Given the description of an element on the screen output the (x, y) to click on. 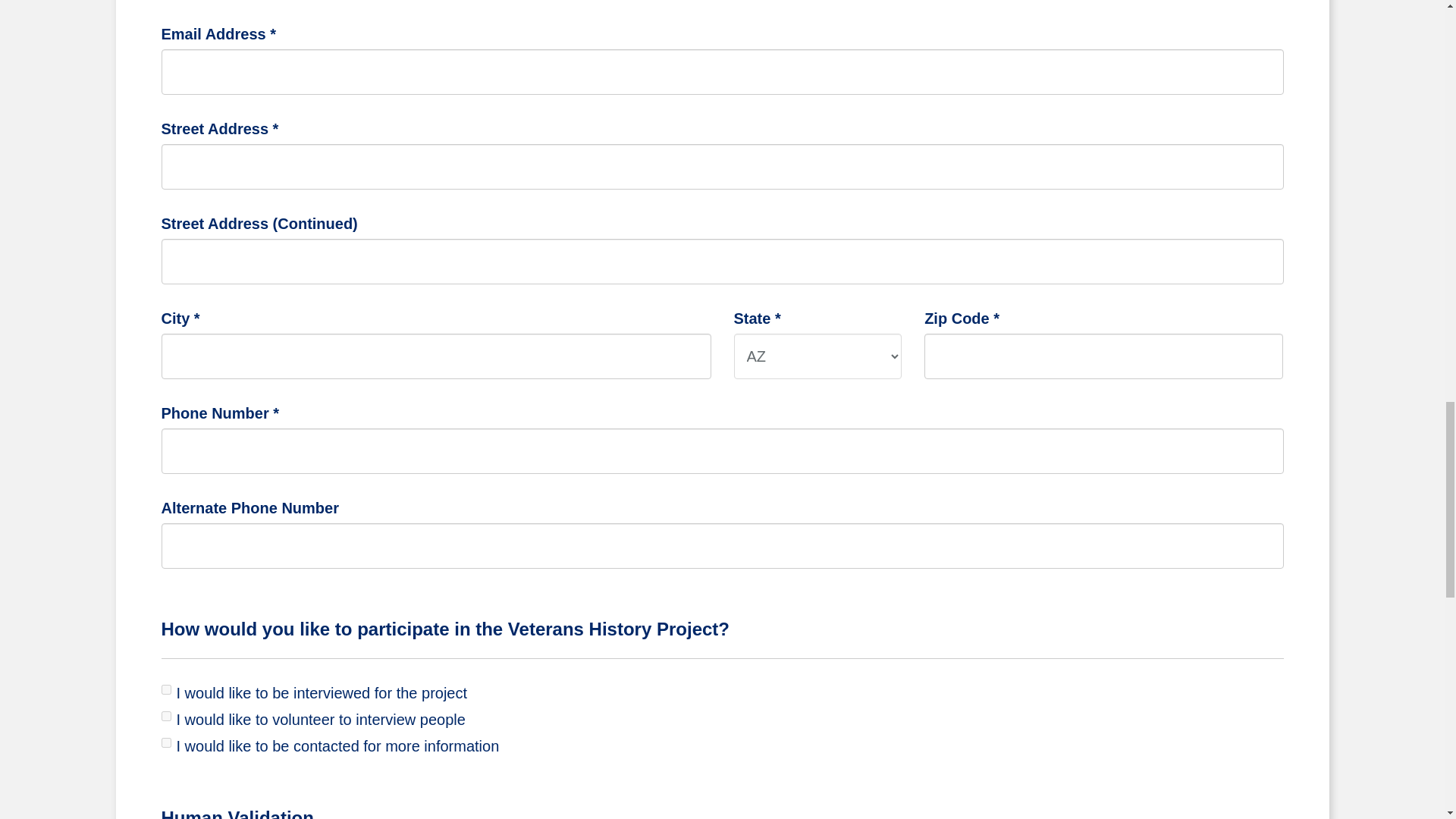
I would like to volunteer to interview people (165, 716)
I would like to be contacted for more information (165, 742)
I would like to be interviewed for the project (165, 689)
